Given the description of an element on the screen output the (x, y) to click on. 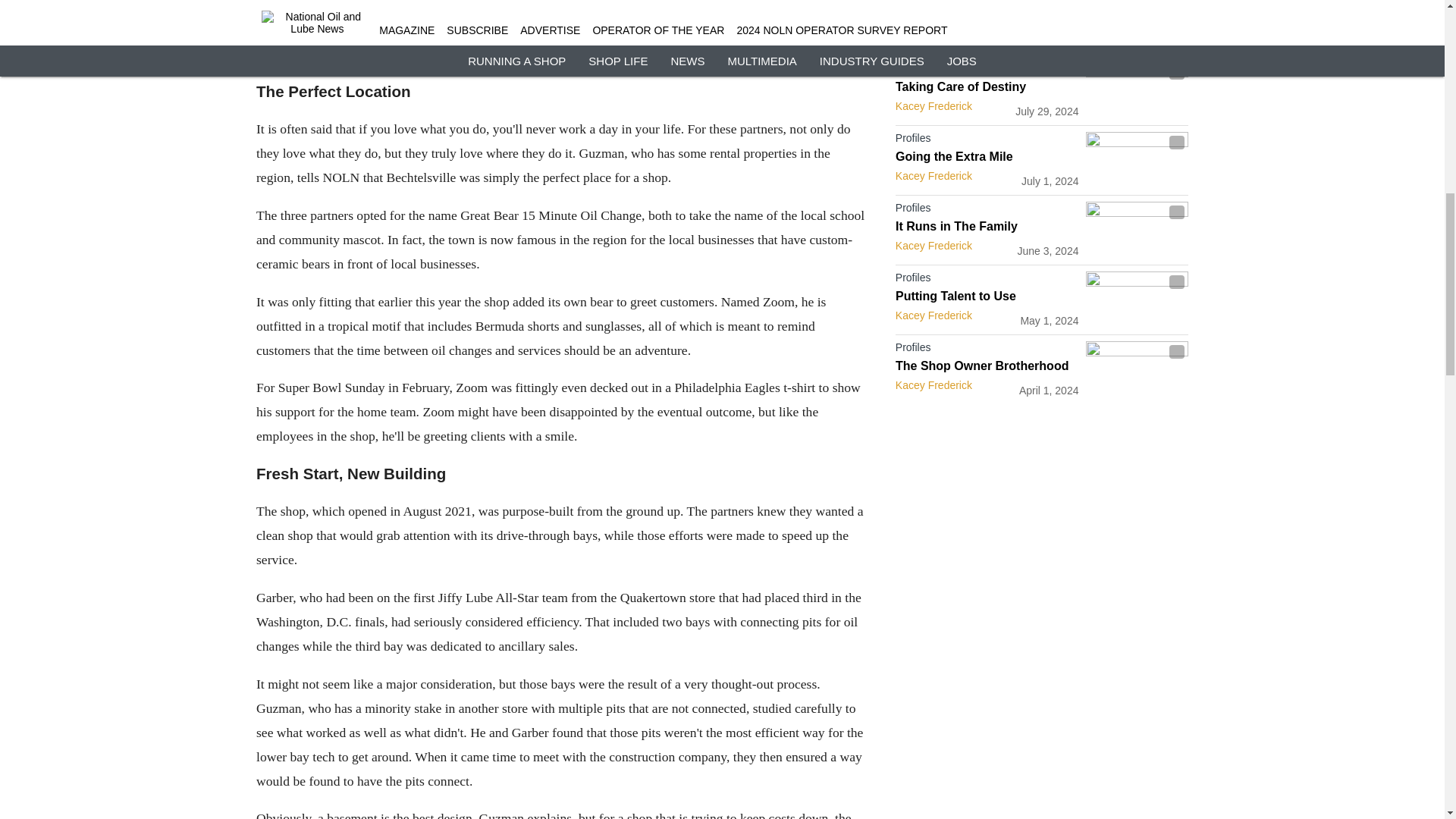
Profiles (986, 140)
Profiles (986, 71)
It Runs in The Family (986, 226)
Taking Care of Destiny (986, 87)
Kacey Frederick (933, 245)
Profiles (986, 210)
LATEST IN PROFILES (958, 31)
Kacey Frederick (933, 175)
Putting Talent to Use (986, 296)
Going the Extra Mile (986, 156)
Kacey Frederick (933, 105)
Profiles (986, 280)
Kacey Frederick (933, 315)
Profiles (986, 350)
